Given the description of an element on the screen output the (x, y) to click on. 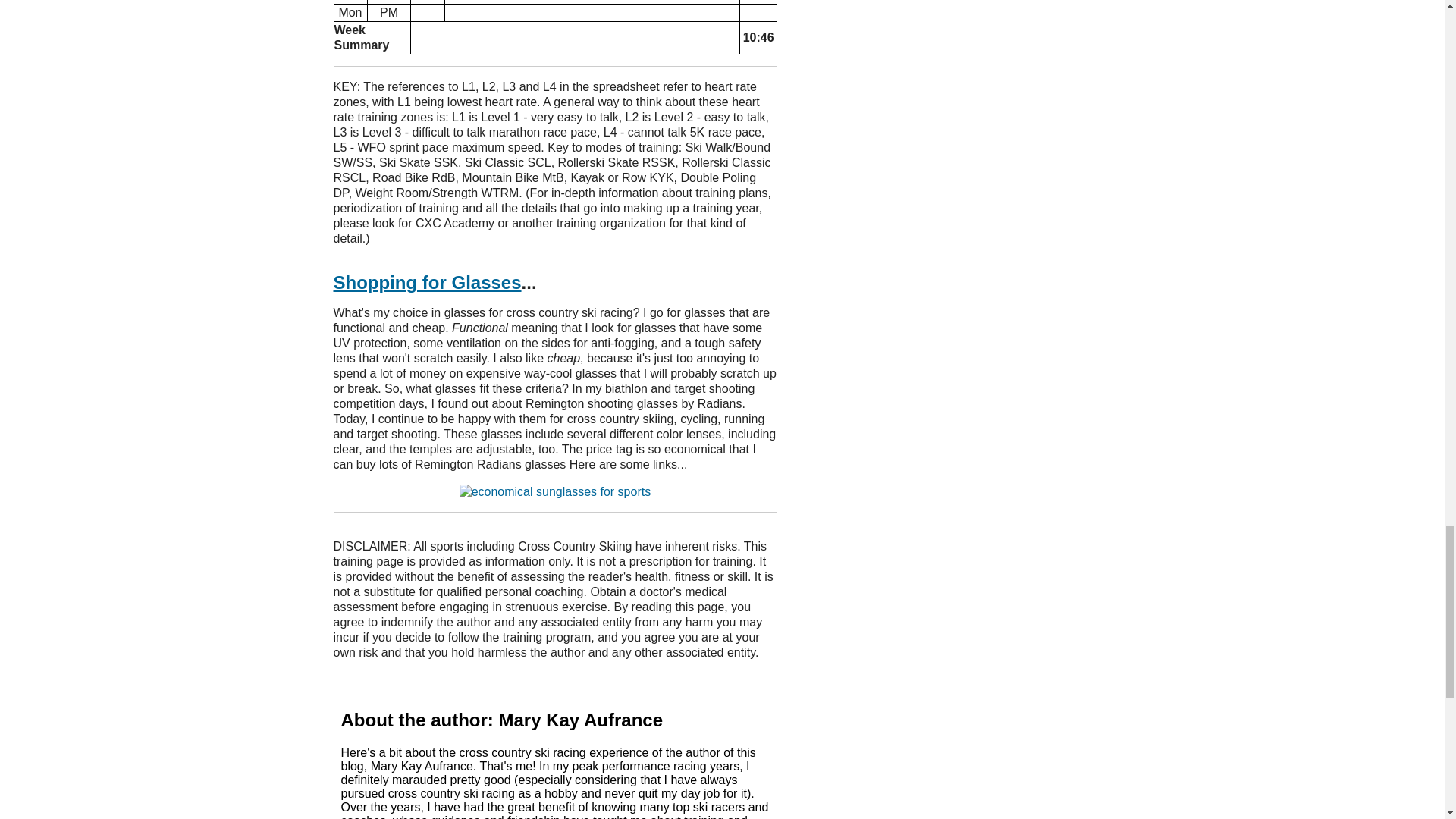
Shopping for Glasses (427, 281)
